Given the description of an element on the screen output the (x, y) to click on. 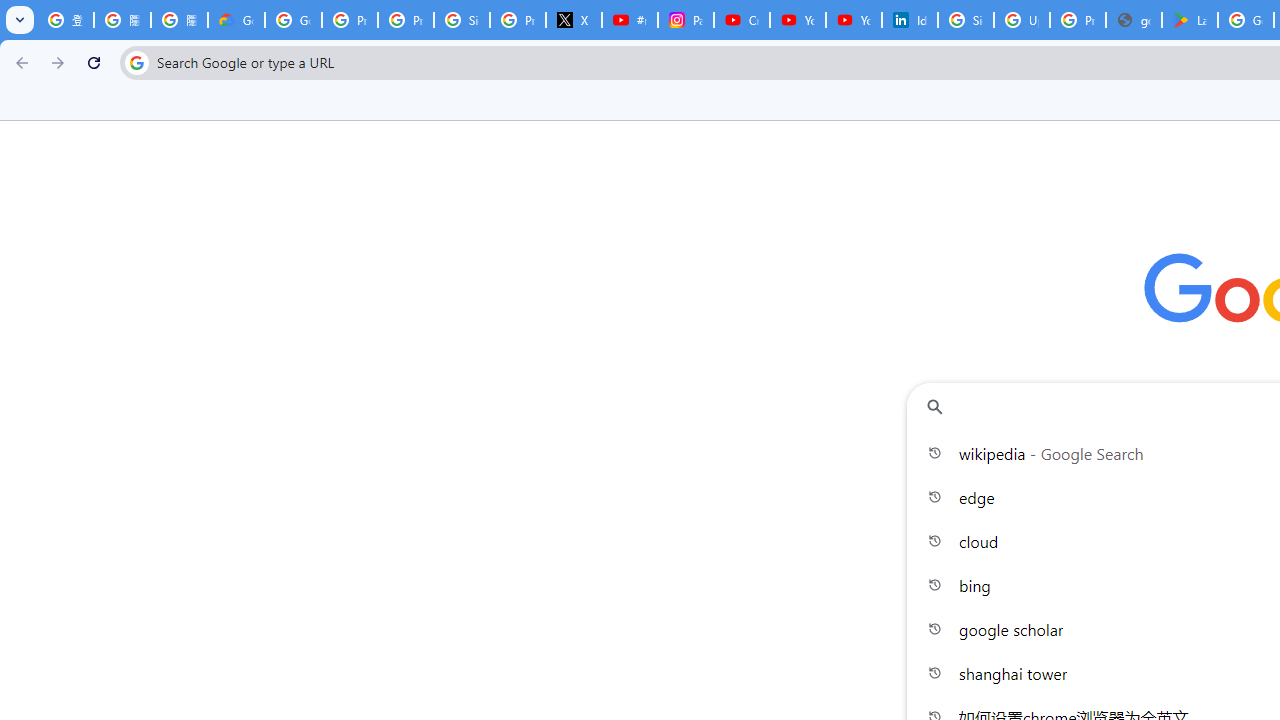
Privacy Help Center - Policies Help (405, 20)
Sign in - Google Accounts (966, 20)
Search icon (136, 62)
Last Shelter: Survival - Apps on Google Play (1190, 20)
X (573, 20)
Identity verification via Persona | LinkedIn Help (909, 20)
